Given the description of an element on the screen output the (x, y) to click on. 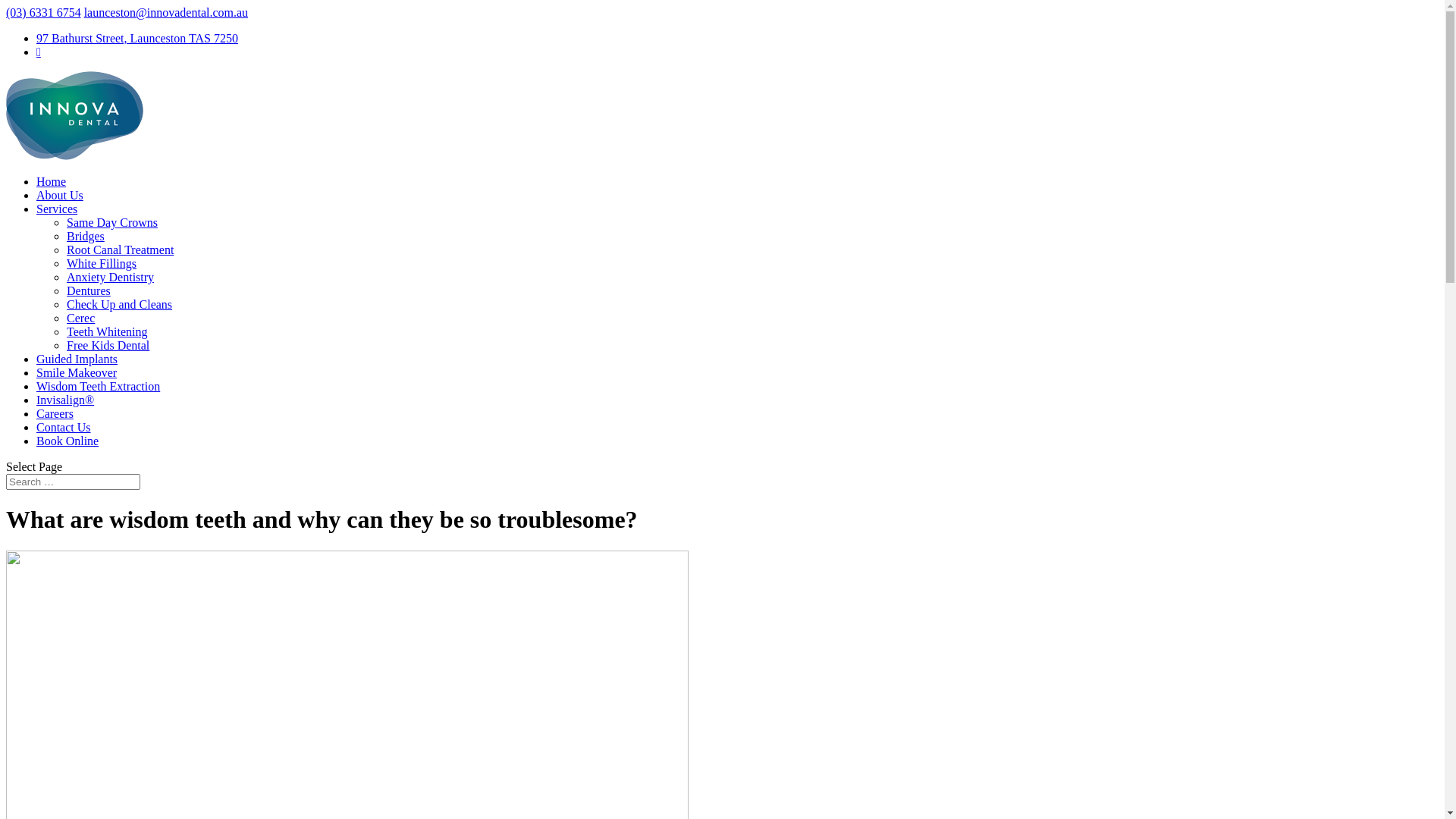
Careers Element type: text (54, 413)
Teeth Whitening Element type: text (106, 331)
Dentures Element type: text (88, 290)
Guided Implants Element type: text (76, 358)
launceston@innovadental.com.au Element type: text (165, 12)
Root Canal Treatment Element type: text (119, 249)
Home Element type: text (50, 181)
Cerec Element type: text (80, 317)
Bridges Element type: text (85, 235)
Services Element type: text (56, 208)
97 Bathurst Street, Launceston TAS 7250 Element type: text (137, 37)
Check Up and Cleans Element type: text (119, 304)
White Fillings Element type: text (101, 263)
Wisdom Teeth Extraction Element type: text (98, 385)
(03) 6331 6754 Element type: text (43, 12)
Smile Makeover Element type: text (76, 372)
Same Day Crowns Element type: text (111, 222)
Contact Us Element type: text (63, 426)
About Us Element type: text (59, 194)
Search for: Element type: hover (73, 481)
Anxiety Dentistry Element type: text (109, 276)
Free Kids Dental Element type: text (107, 344)
Book Online Element type: text (67, 440)
